Given the description of an element on the screen output the (x, y) to click on. 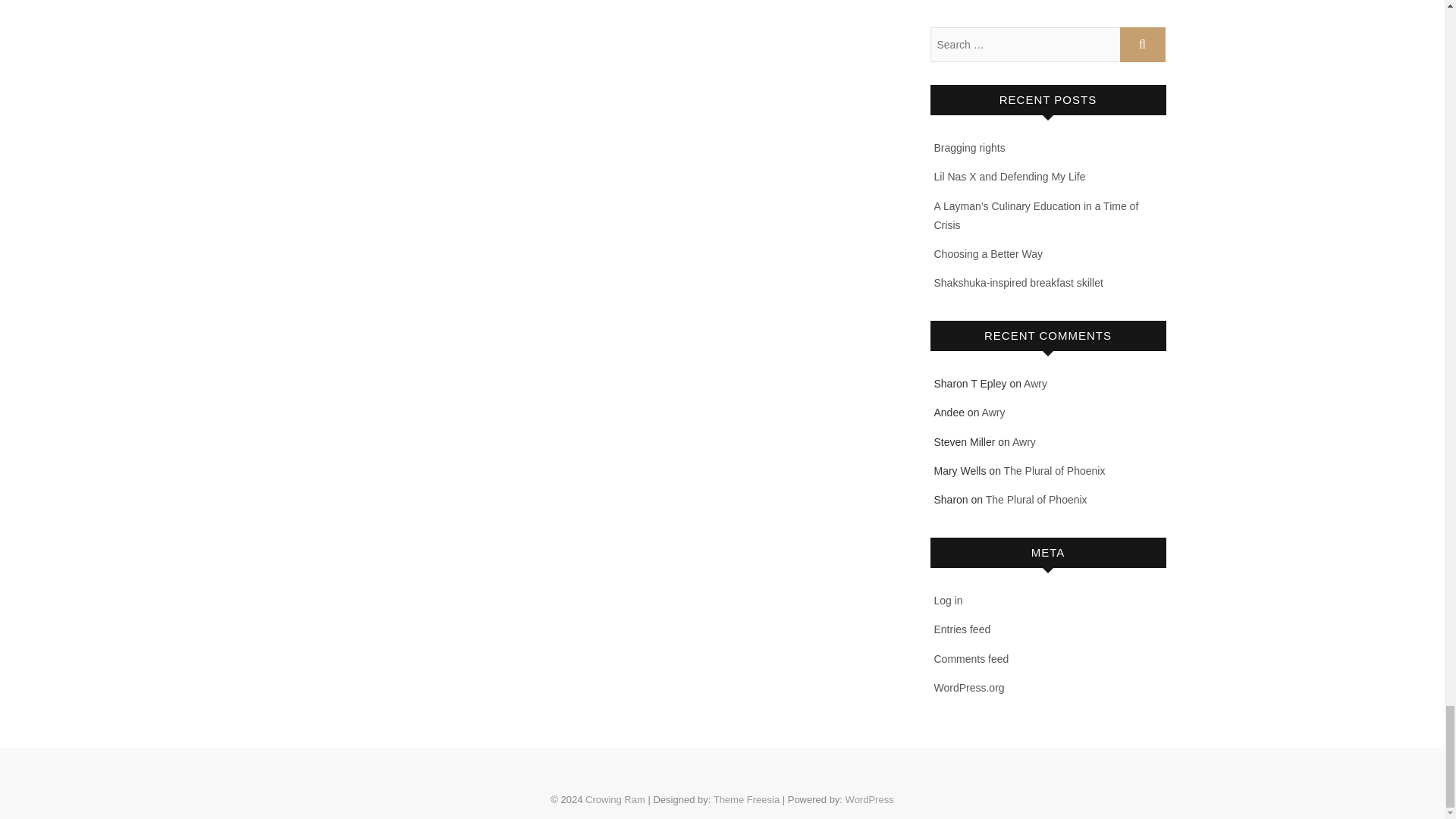
Theme Freesia (745, 799)
WordPress (869, 799)
Crowing Ram (615, 799)
